Given the description of an element on the screen output the (x, y) to click on. 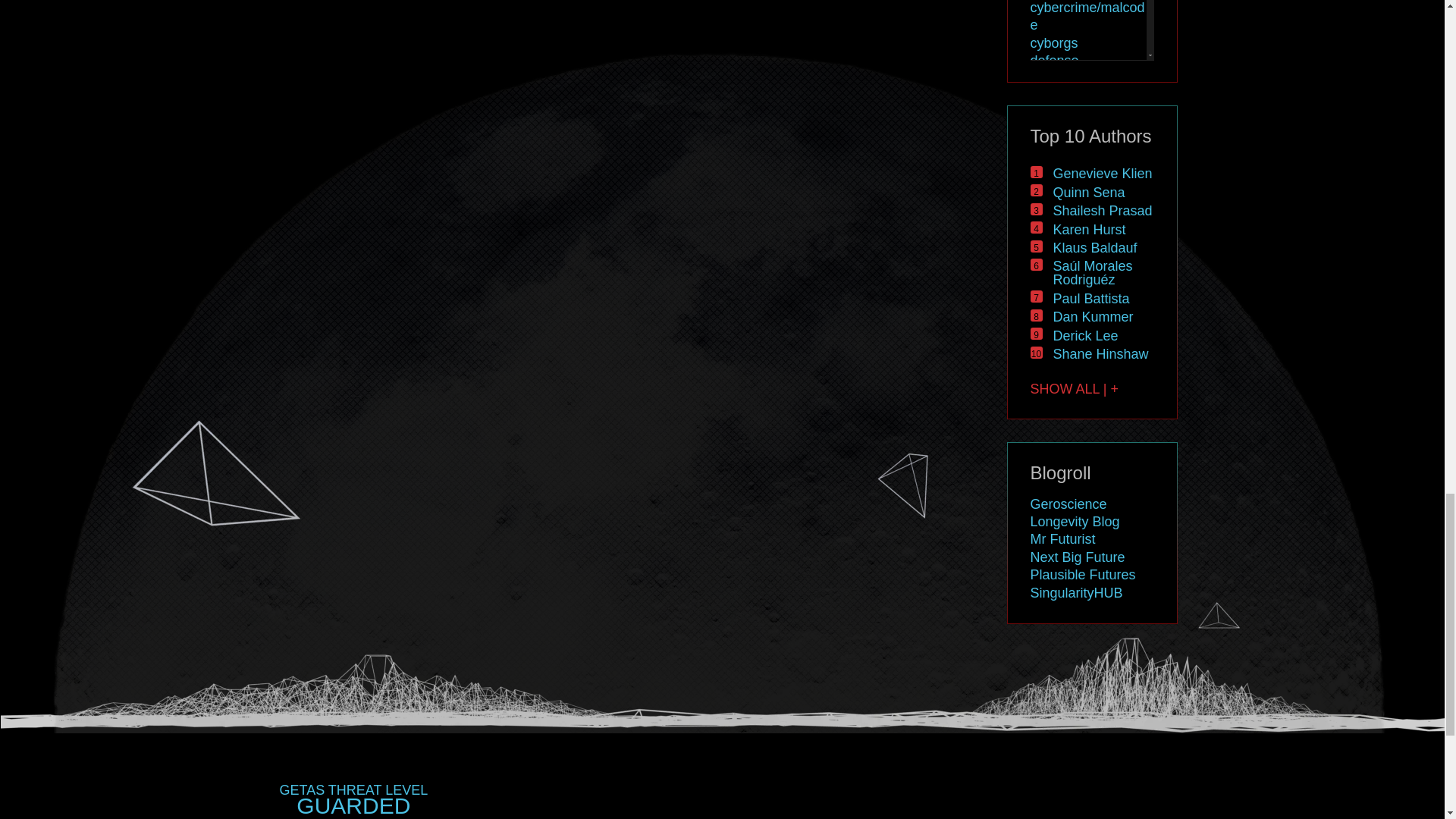
4292 posts by Karen Hurst (1088, 229)
5197 posts by Shailesh Prasad (1101, 210)
9057 posts by Quinn Sena (1088, 192)
2091 posts by Paul Battista (1090, 298)
11714 posts by Genevieve Klien (1101, 173)
2590 posts by Klaus Baldauf (1094, 247)
1200 posts by Shane Hinshaw (1100, 353)
1371 posts by Derick Lee (1085, 335)
1654 posts by Dan Kummer (1092, 316)
